Given the description of an element on the screen output the (x, y) to click on. 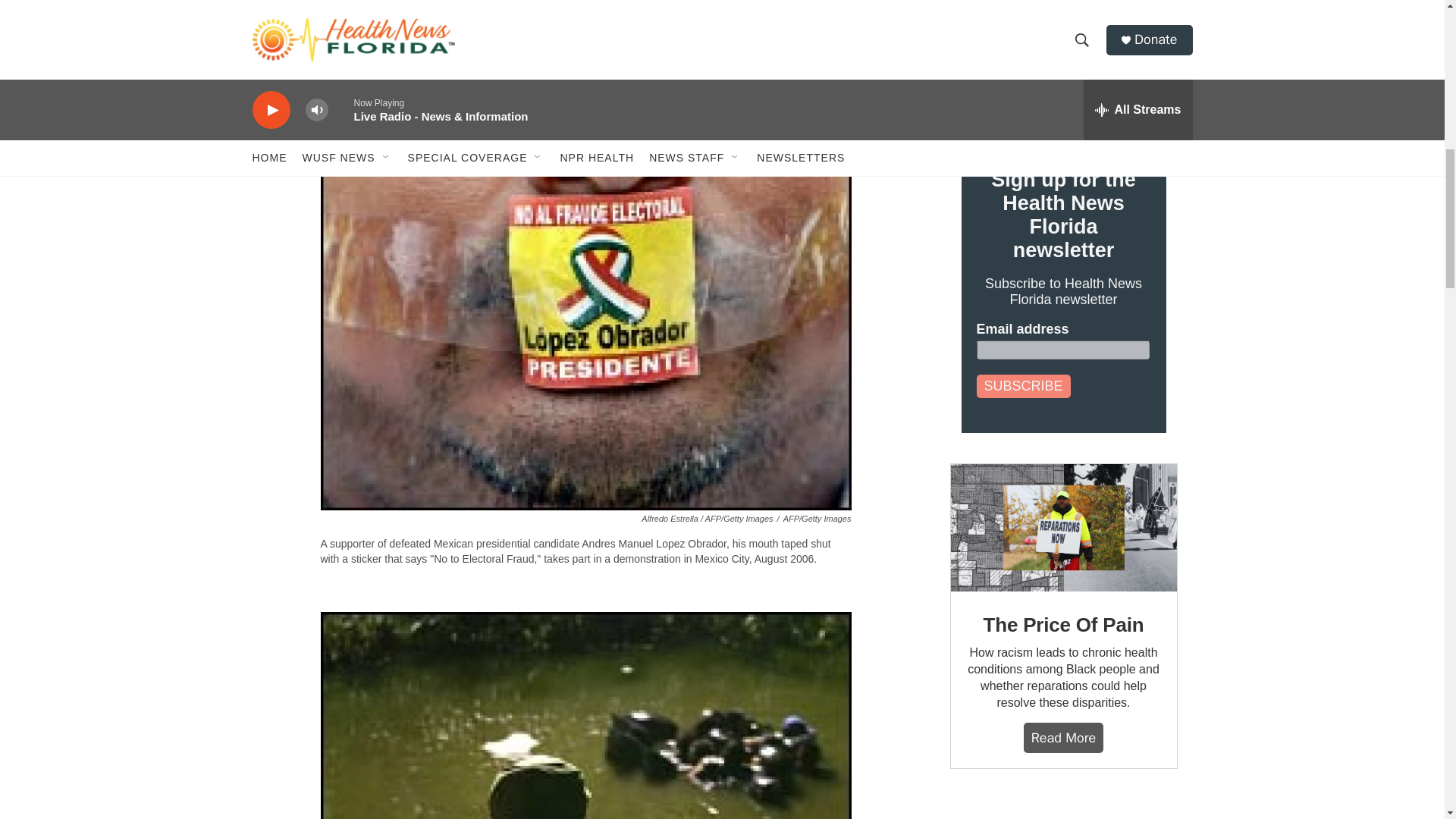
3rd party ad content (1062, 809)
